Given the description of an element on the screen output the (x, y) to click on. 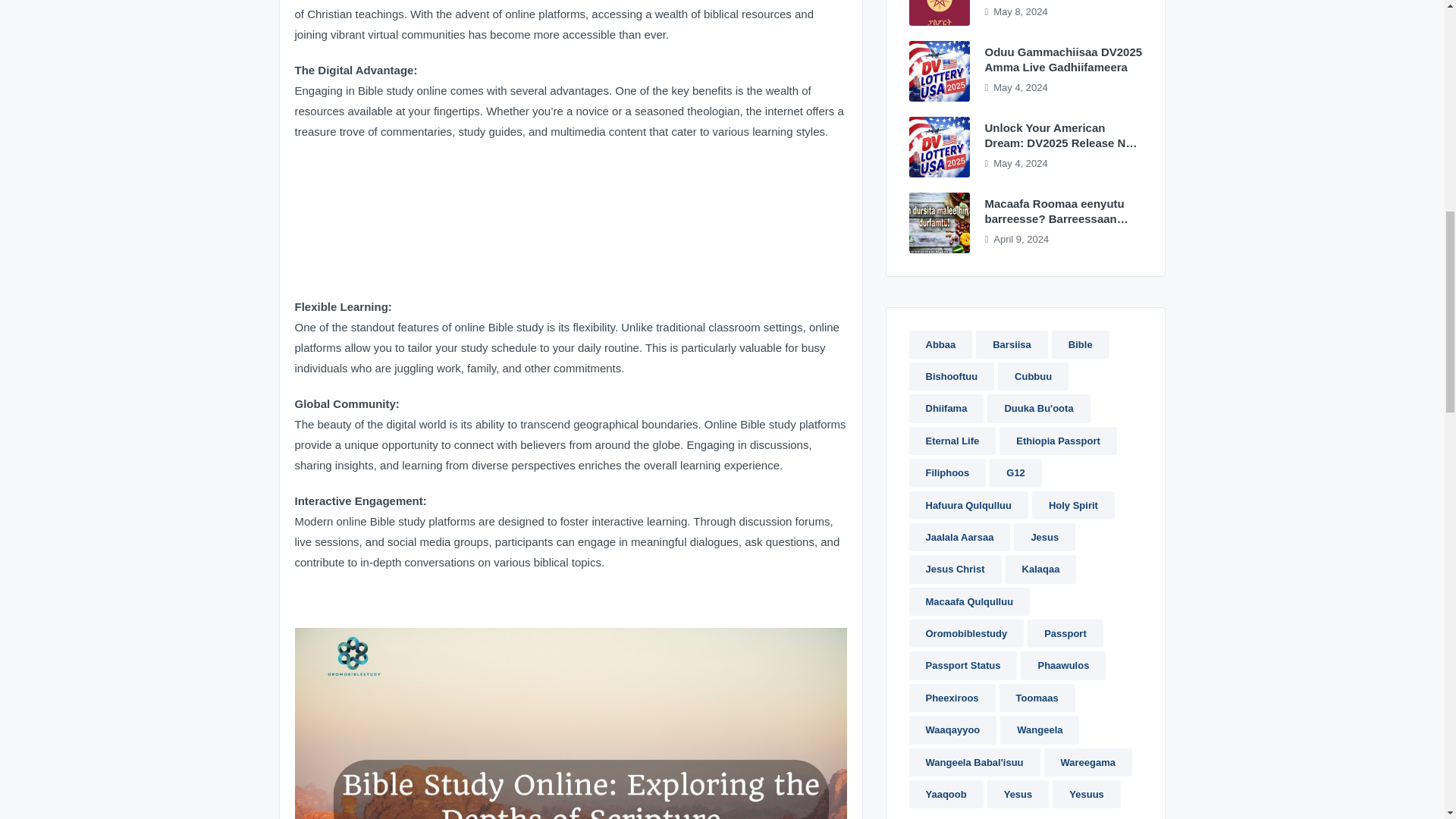
Advertisement (570, 225)
images 9 - Oromobiblestudy (938, 70)
ET - Oromobiblestudy (938, 12)
images 9 - Oromobiblestudy (938, 147)
Advertisement (570, 606)
